Given the description of an element on the screen output the (x, y) to click on. 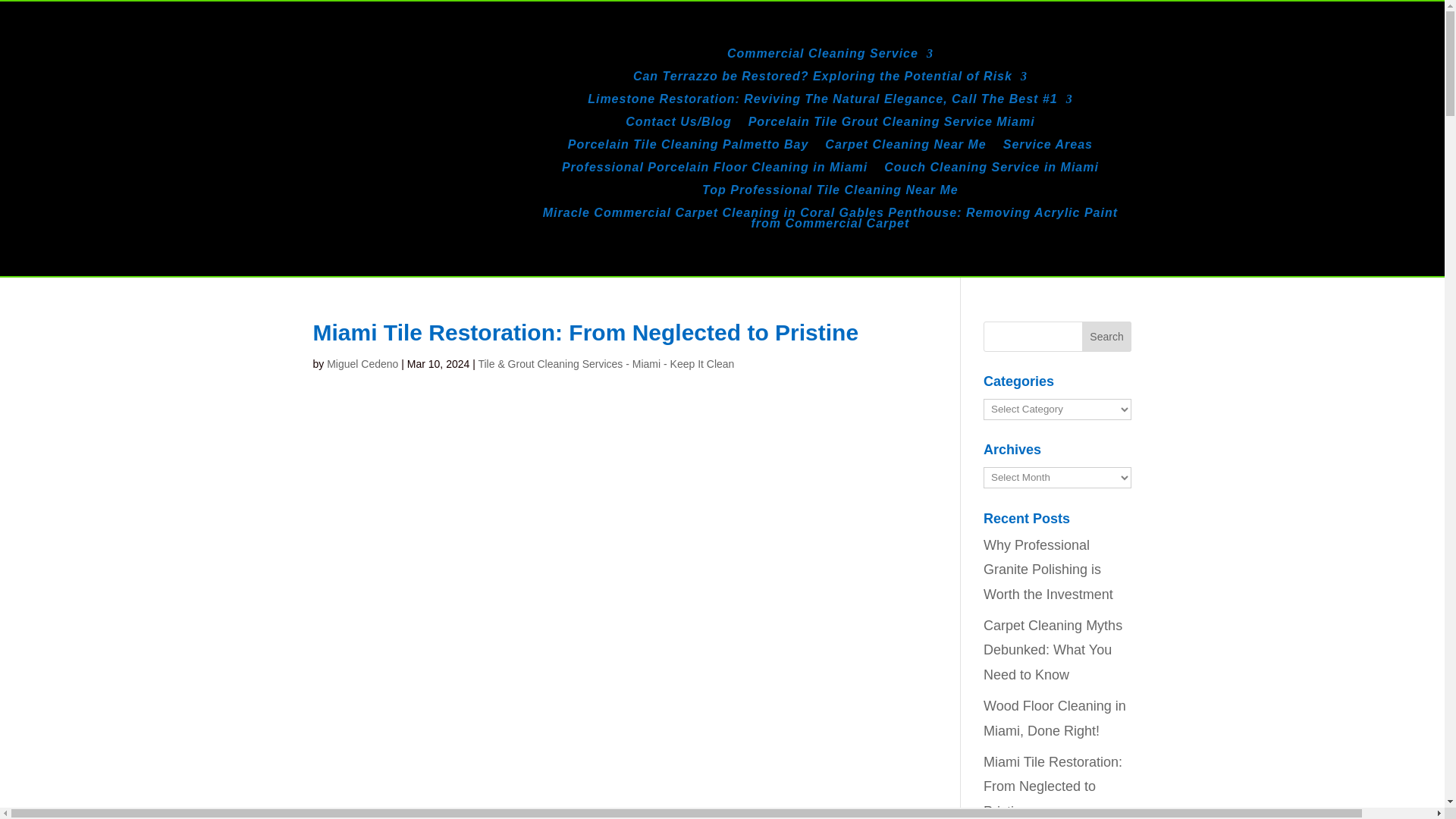
Service Areas (1048, 147)
Top Professional Tile Cleaning Near Me (829, 193)
Professional Porcelain Floor Cleaning in Miami (714, 170)
Porcelain Tile Grout Cleaning Service Miami (891, 125)
Search (1106, 336)
Commercial Cleaning Service (829, 56)
Carpet Cleaning Near Me (905, 147)
Miguel Cedeno (361, 363)
Couch Cleaning Service in Miami (991, 170)
Posts by Miguel Cedeno (361, 363)
Porcelain Tile Cleaning Palmetto Bay (688, 147)
Can Terrazzo be Restored? Exploring the Potential of Risk (830, 79)
